Given the description of an element on the screen output the (x, y) to click on. 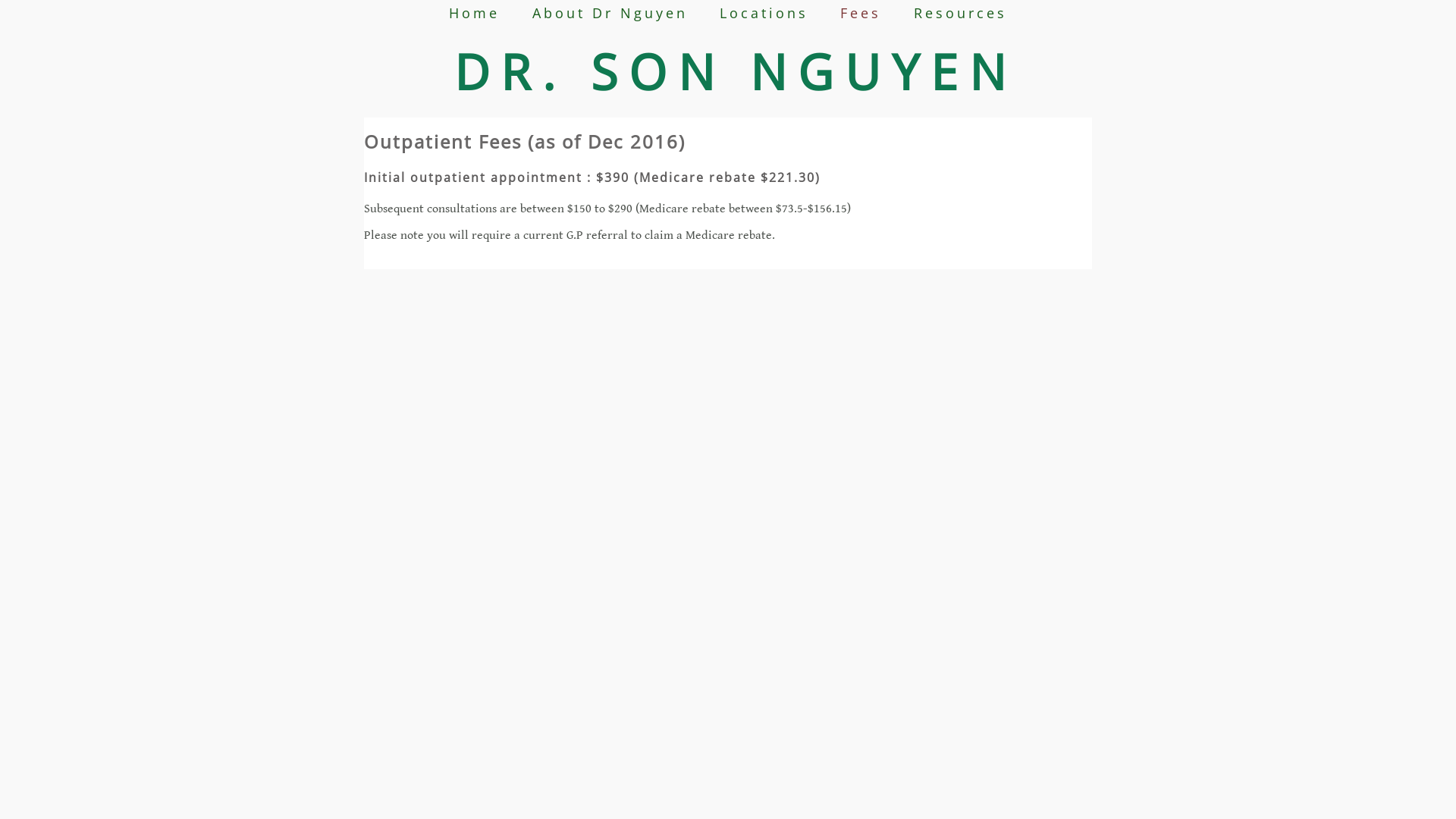
Home Element type: text (473, 12)
Resources Element type: text (960, 12)
DR. SON NGUYEN Element type: text (735, 71)
Fees Element type: text (860, 12)
Locations Element type: text (763, 12)
About Dr Nguyen Element type: text (609, 12)
